Given the description of an element on the screen output the (x, y) to click on. 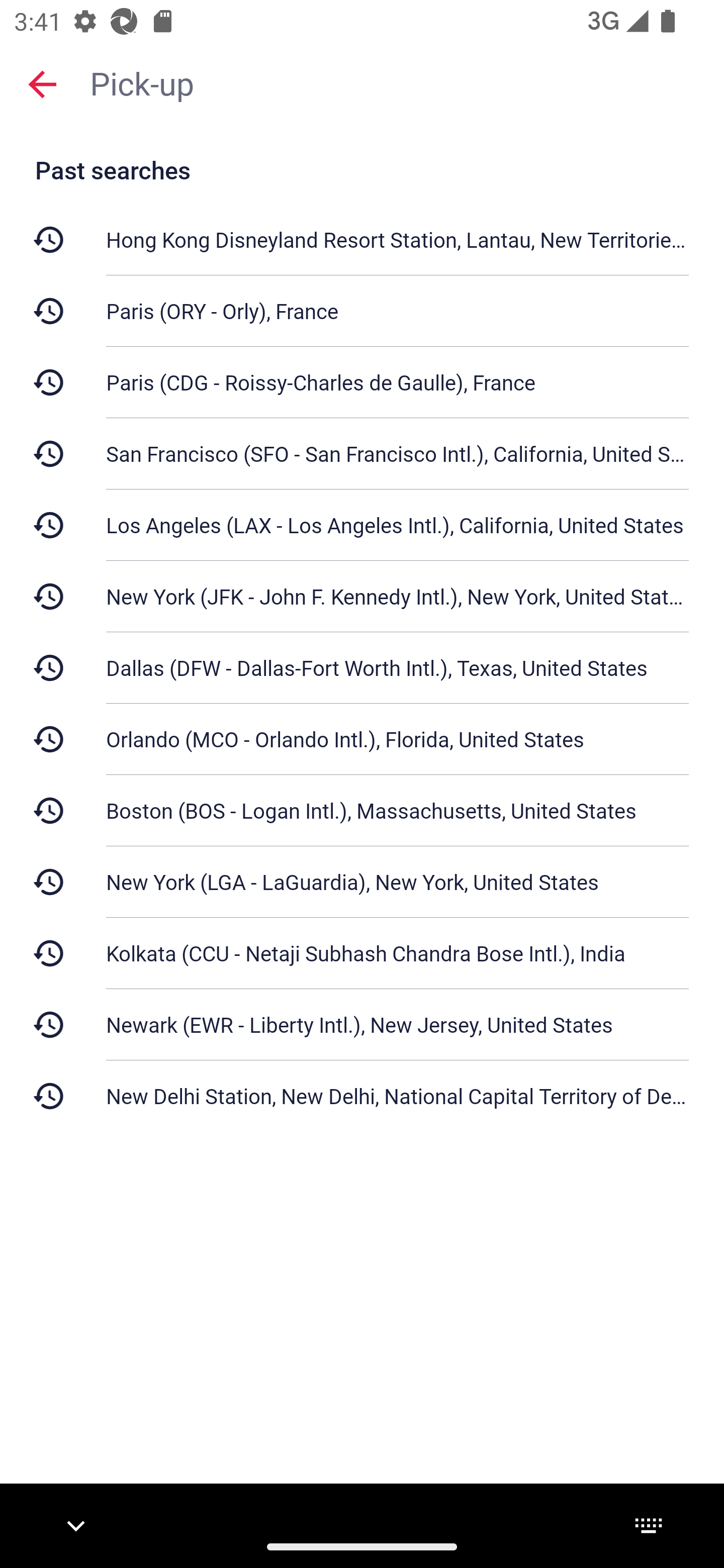
Pick-up,  (397, 82)
Close search screen (41, 83)
